Given the description of an element on the screen output the (x, y) to click on. 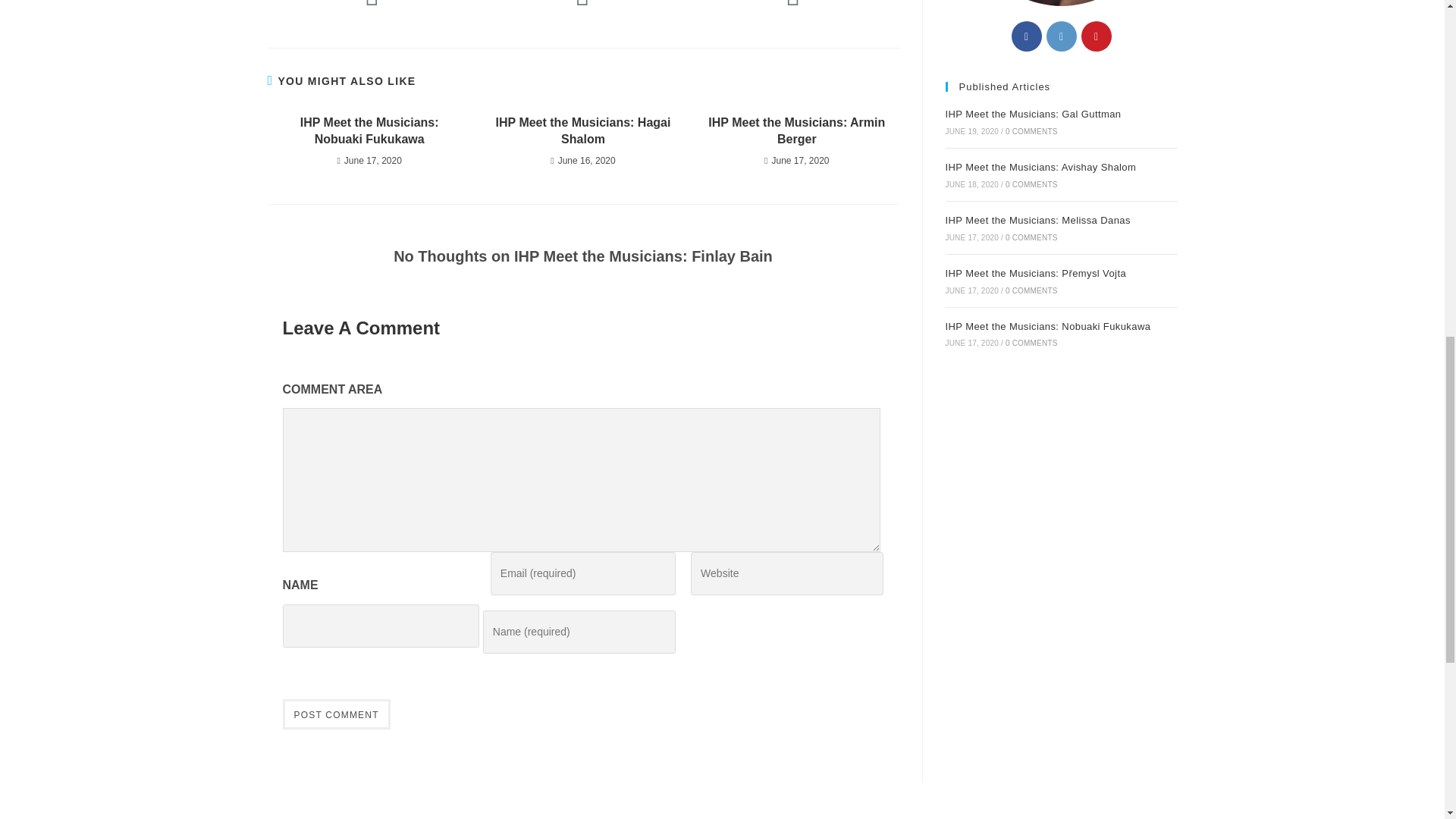
IHP Meet the Musicians: Hagai Shalom (582, 131)
Post Comment (336, 714)
IHP Meet the Musicians: Armin Berger (796, 131)
IHP Meet the Musicians: Nobuaki Fukukawa (368, 131)
Post Comment (336, 714)
